Given the description of an element on the screen output the (x, y) to click on. 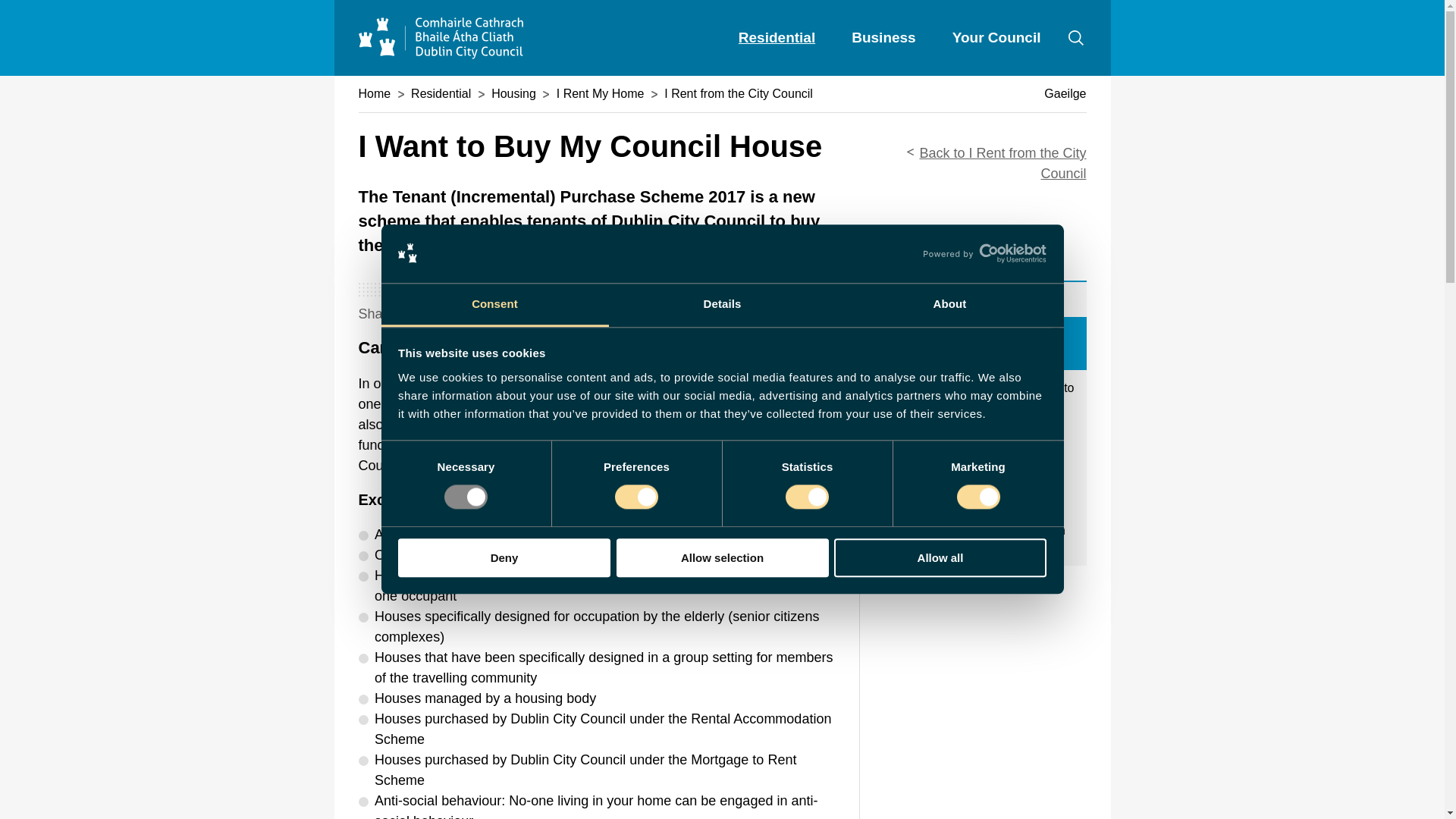
About (948, 304)
Consent (494, 304)
Details (721, 304)
